Given the description of an element on the screen output the (x, y) to click on. 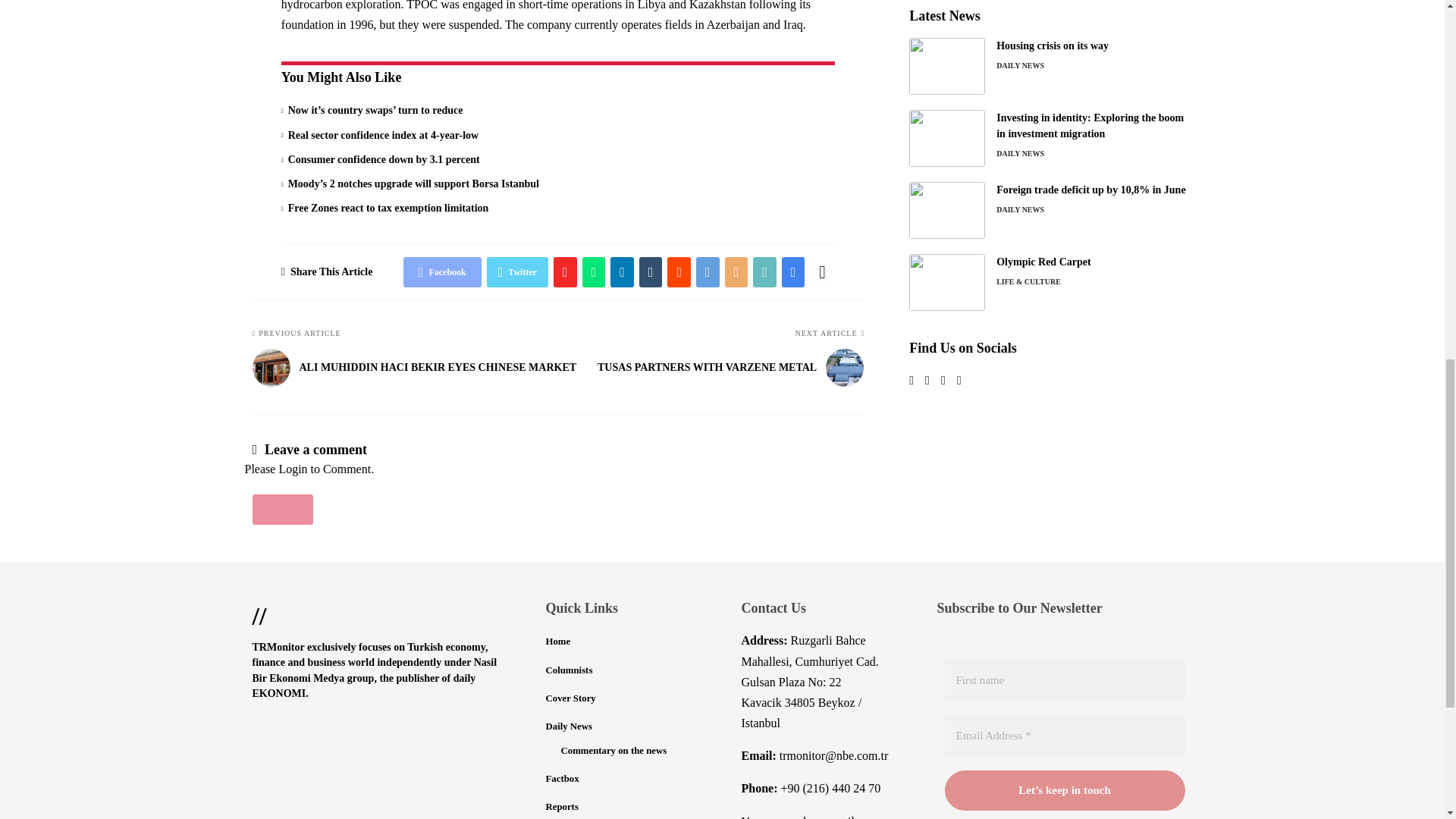
First name (1064, 680)
Email Address (1064, 735)
